Given the description of an element on the screen output the (x, y) to click on. 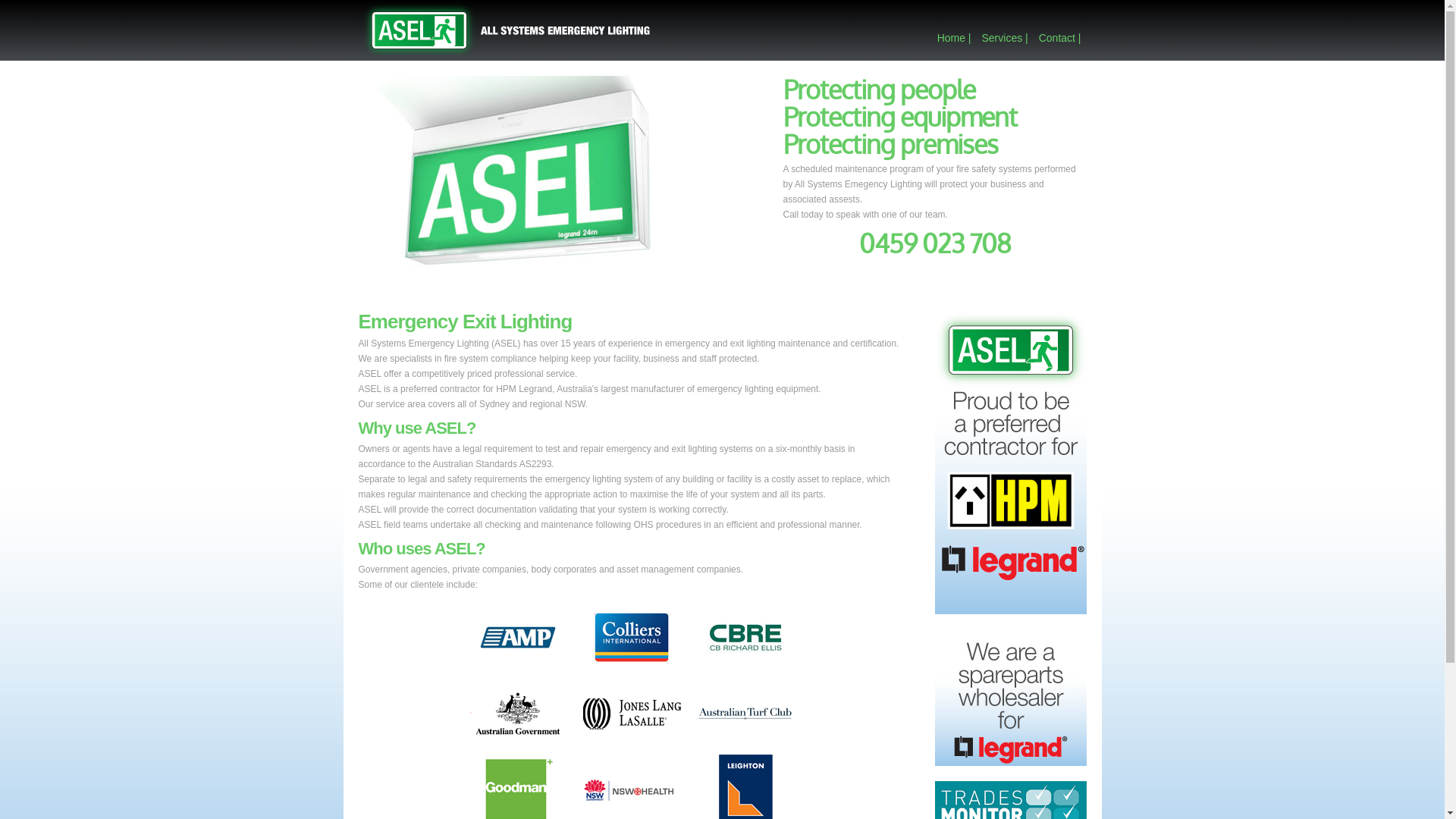
Contact | Element type: text (1059, 37)
Home | Element type: text (954, 37)
Services | Element type: text (1004, 37)
